Given the description of an element on the screen output the (x, y) to click on. 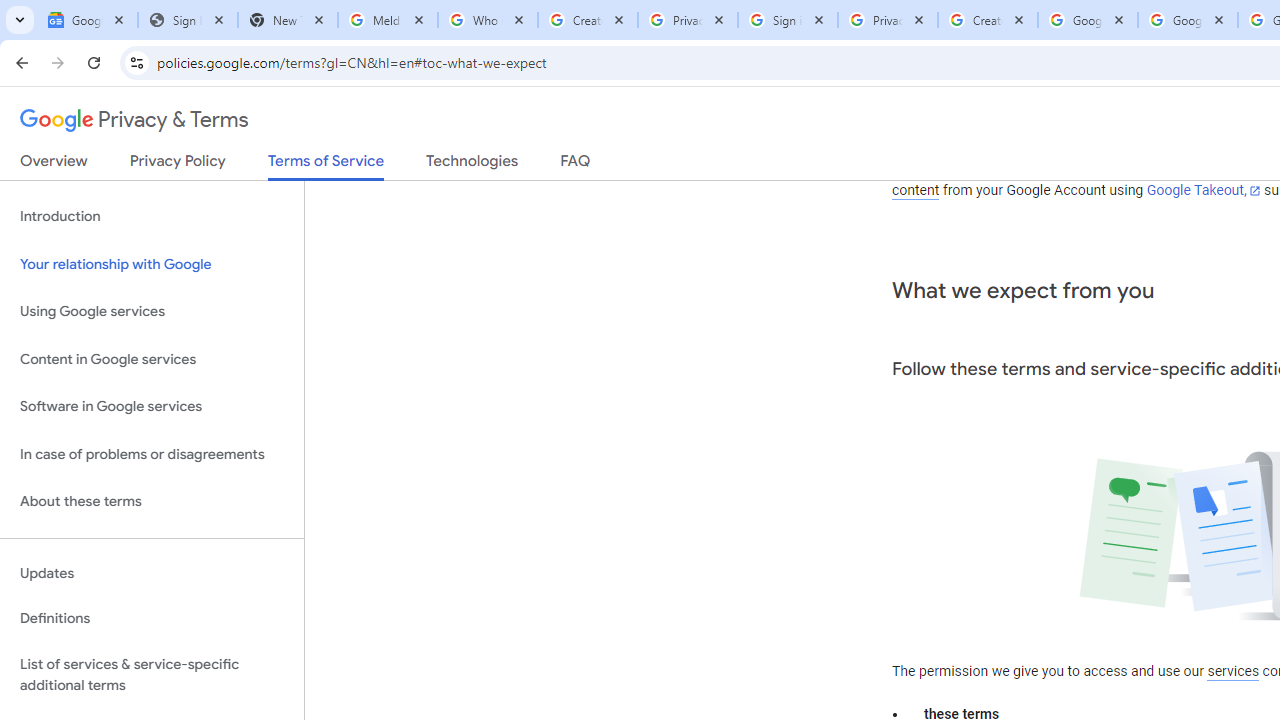
Create your Google Account (988, 20)
Google Takeout, (1202, 191)
services (1233, 671)
Create your Google Account (587, 20)
In case of problems or disagreements (152, 453)
New Tab (287, 20)
